Given the description of an element on the screen output the (x, y) to click on. 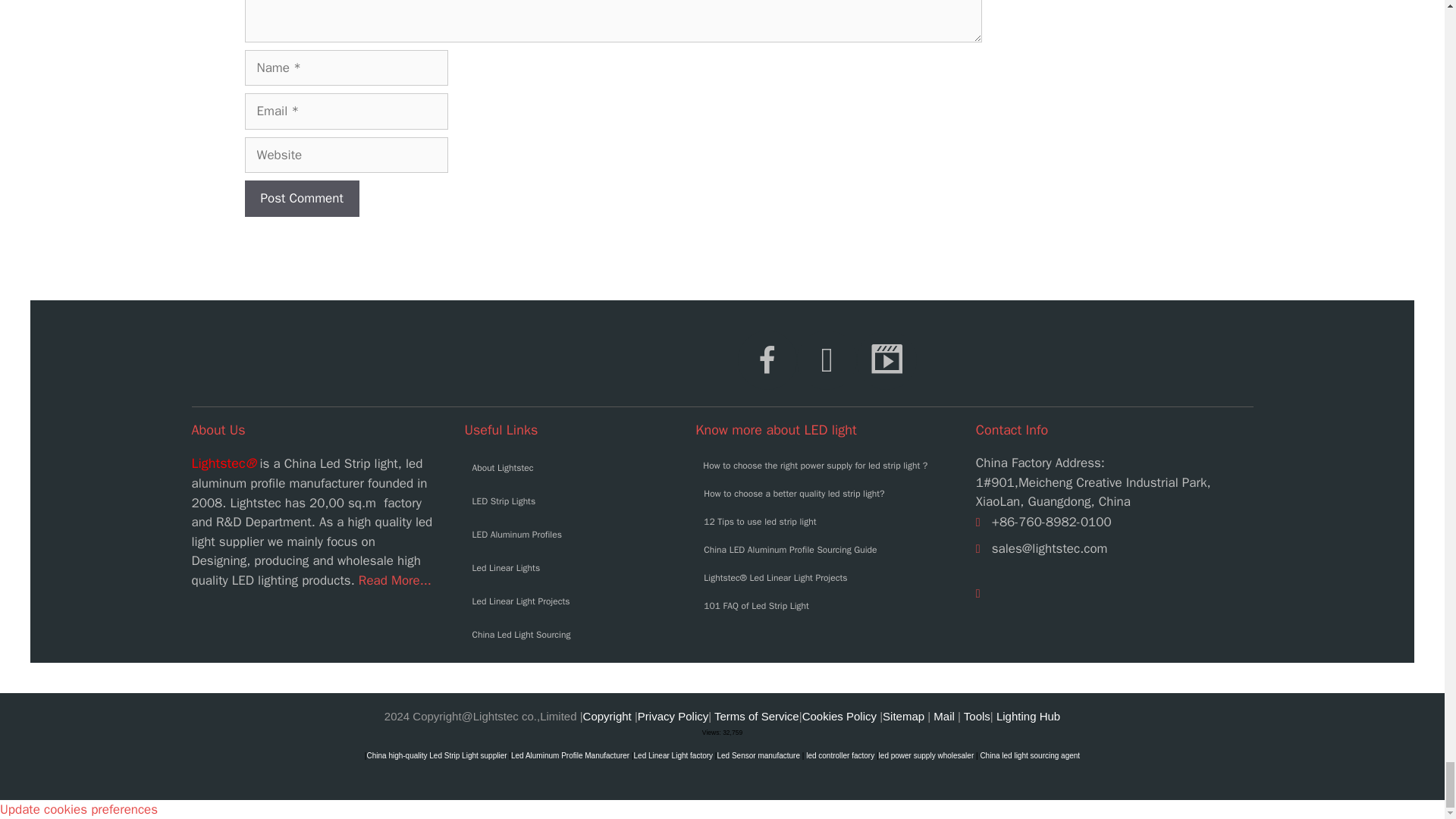
Post Comment (301, 198)
